Given the description of an element on the screen output the (x, y) to click on. 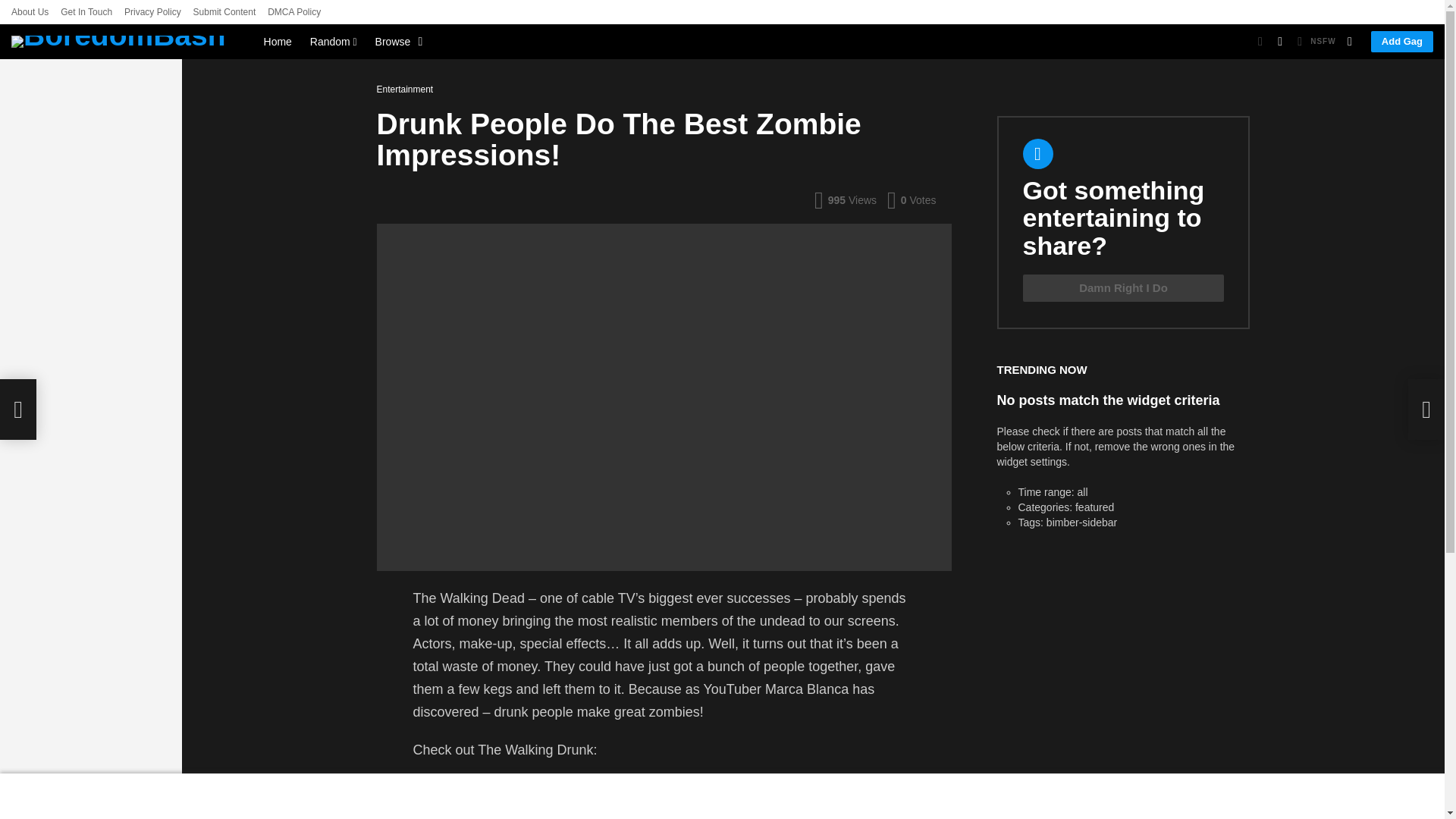
Damn Right I Do (1123, 288)
Share on Share on Facebook (660, 799)
Privacy Policy (151, 12)
NSFW (1314, 41)
Browse (395, 41)
Toggle NSFW (1314, 41)
Add Gag (1401, 41)
Home (277, 41)
Share on Share on Twitter (787, 799)
DMCA Policy (293, 12)
Get In Touch (86, 12)
Submit Content (224, 12)
Entertainment (407, 89)
About Us (29, 12)
